Given the description of an element on the screen output the (x, y) to click on. 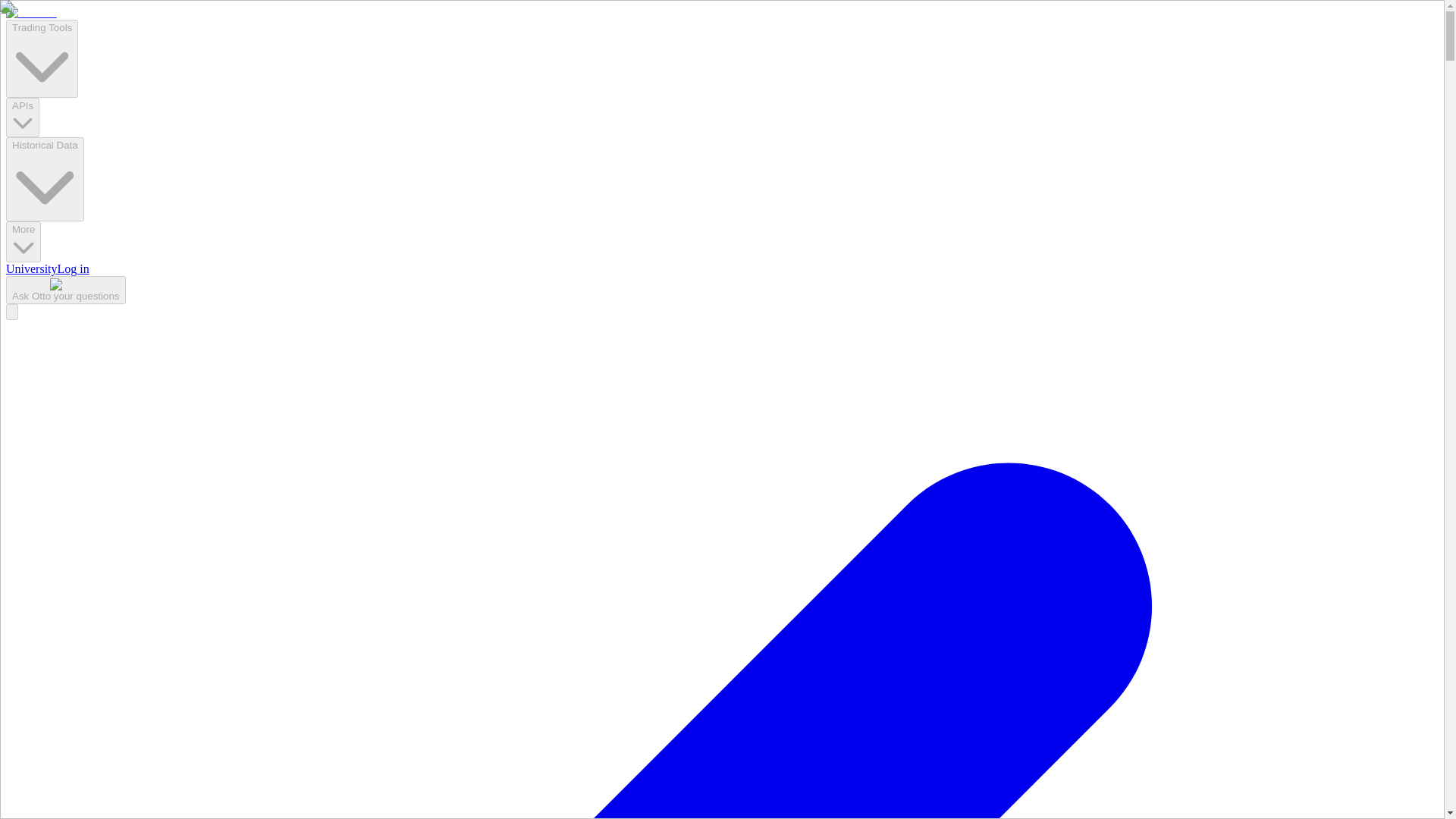
Log in (73, 268)
Historical Data (44, 179)
Trading Tools (41, 58)
Ask Otto your questions (65, 289)
University (31, 268)
